Given the description of an element on the screen output the (x, y) to click on. 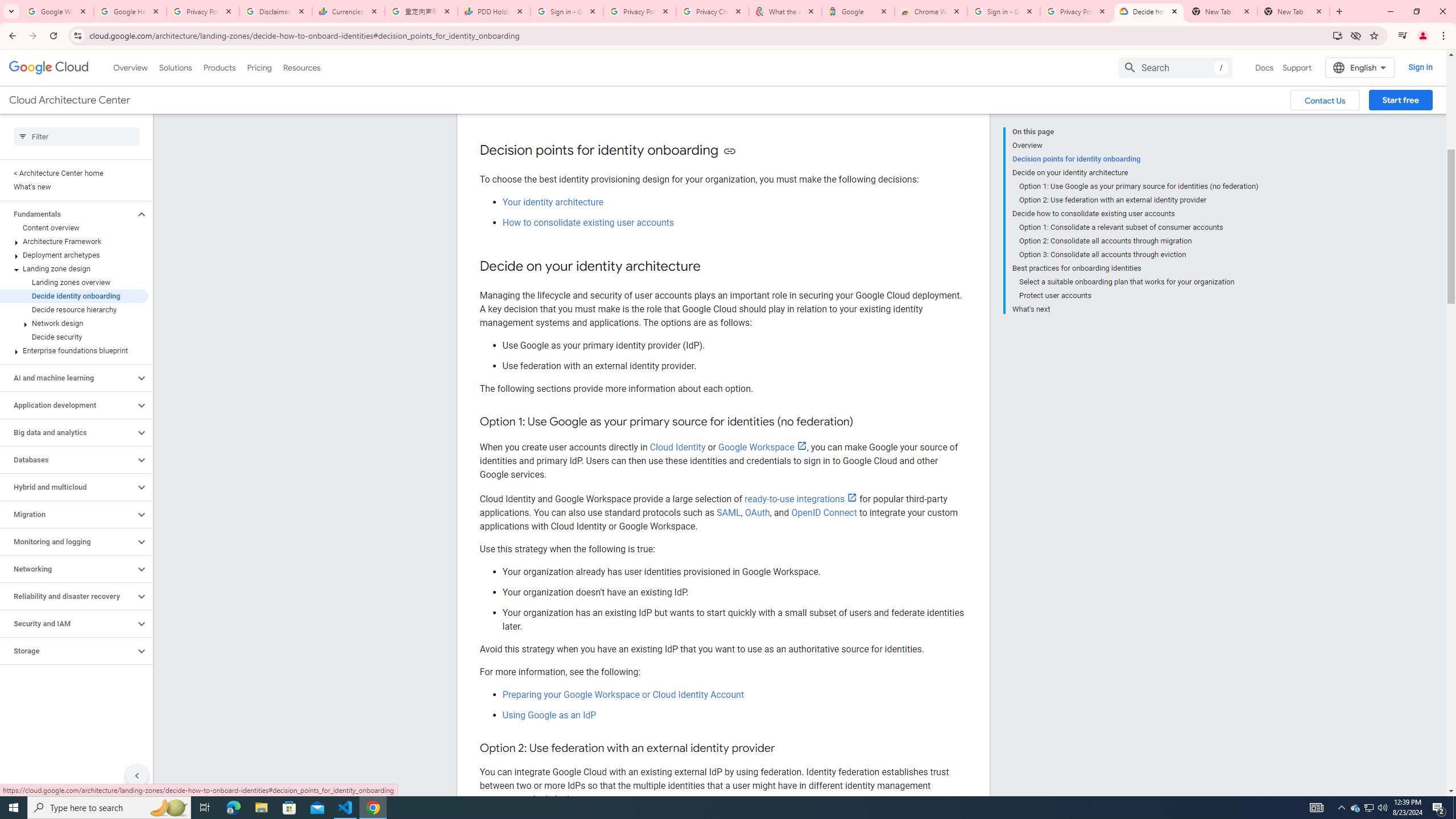
Landing zone design (74, 269)
Decide on your identity architecture (1134, 172)
Best practices for onboarding identities (1134, 268)
Big data and analytics (67, 432)
Start free (1400, 100)
Contact Us (1324, 100)
Migration (67, 514)
Networking (67, 568)
Security and IAM (67, 623)
Application development (67, 404)
